Given the description of an element on the screen output the (x, y) to click on. 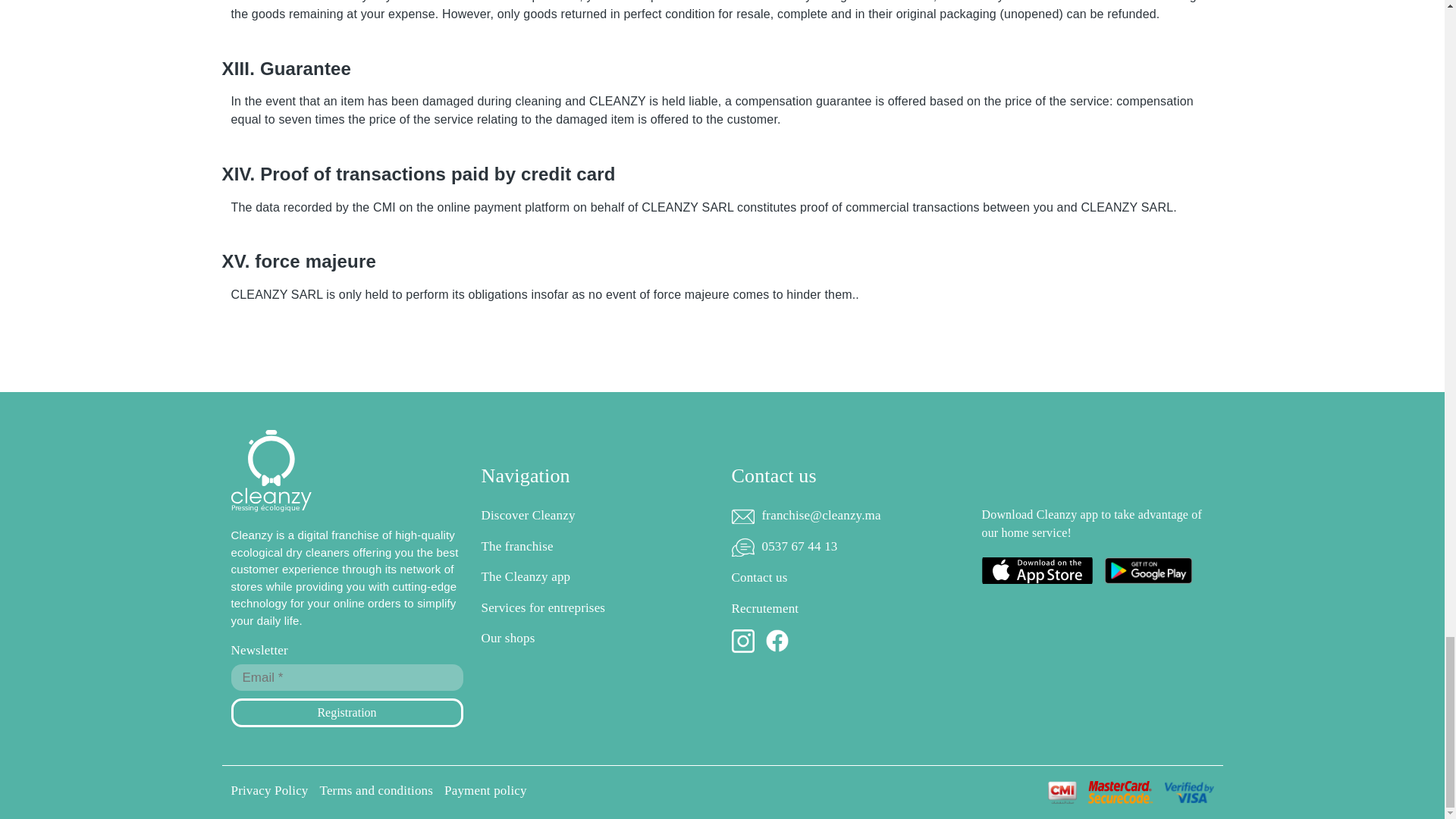
Terms and conditions (376, 789)
Registration (346, 712)
Payment policy (485, 789)
Discover Cleanzy (596, 515)
Privacy Policy (268, 789)
The Cleanzy app (596, 577)
Services for entreprises (596, 608)
Contact us (846, 578)
Recrutement (846, 608)
Our shops (596, 638)
The franchise (596, 546)
